Given the description of an element on the screen output the (x, y) to click on. 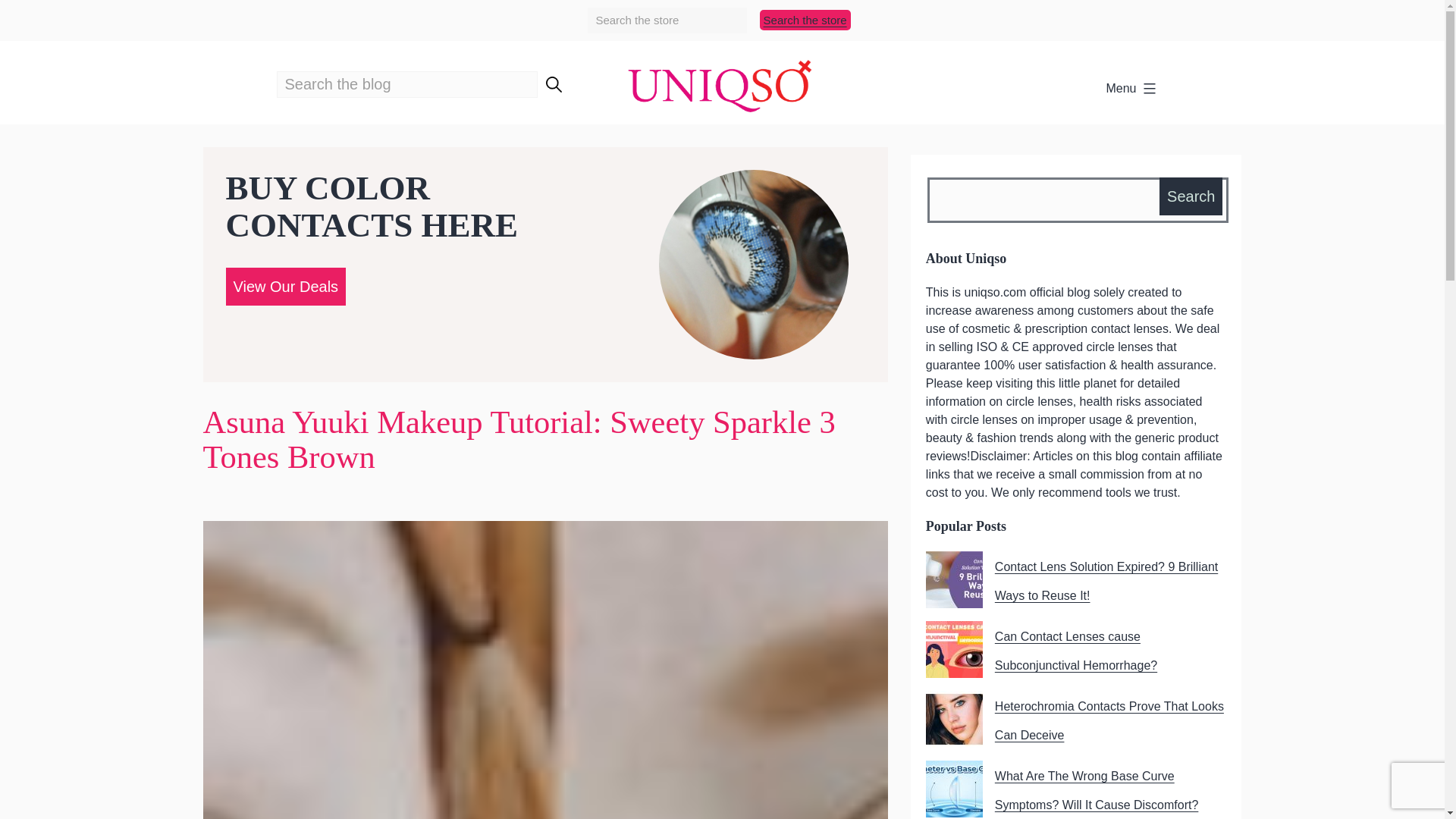
Search (1190, 196)
Search the store (805, 19)
Search (1190, 196)
Menu (1131, 88)
View Our Deals (285, 285)
